Given the description of an element on the screen output the (x, y) to click on. 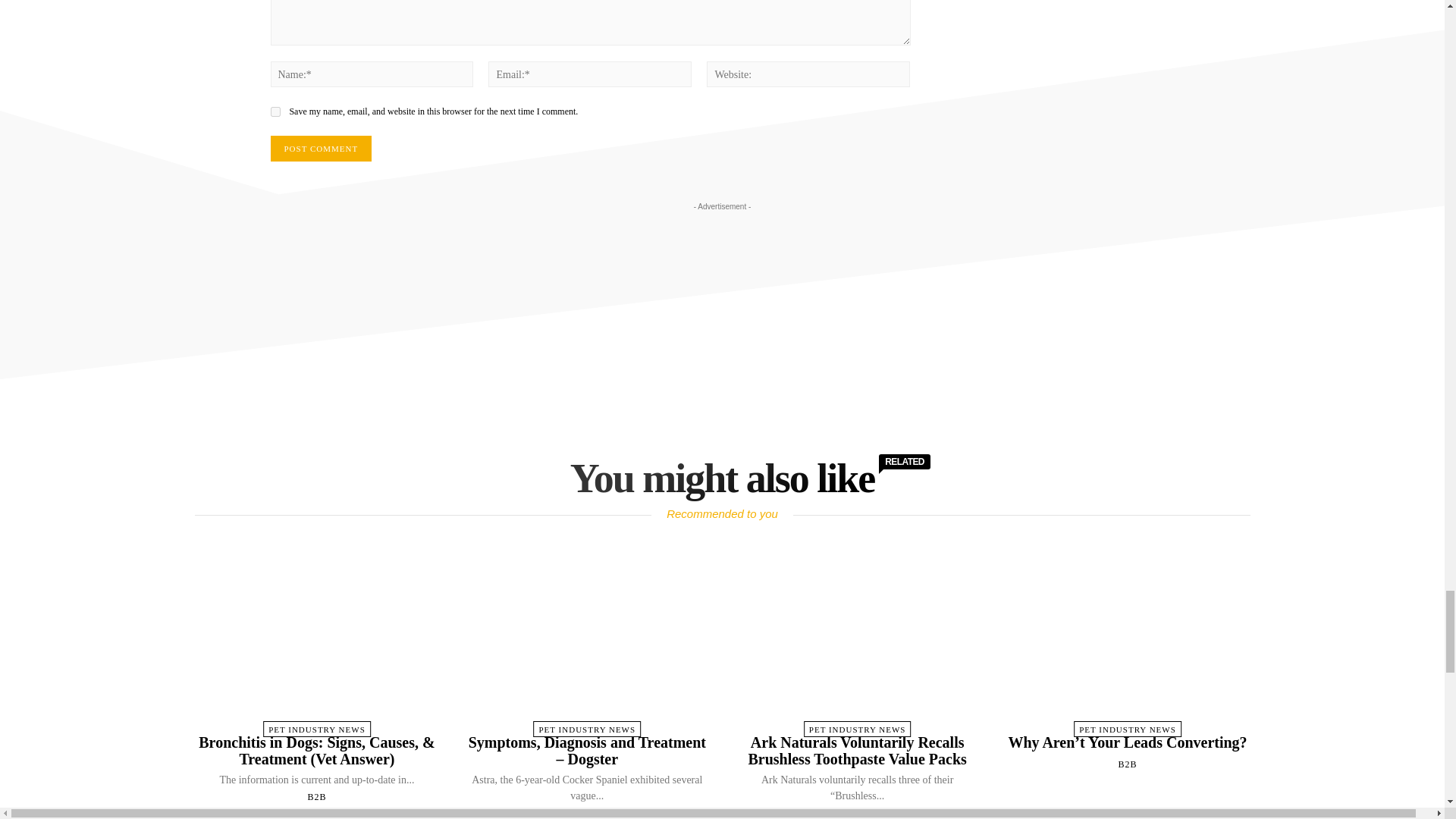
yes (274, 112)
Post Comment (320, 148)
